Given the description of an element on the screen output the (x, y) to click on. 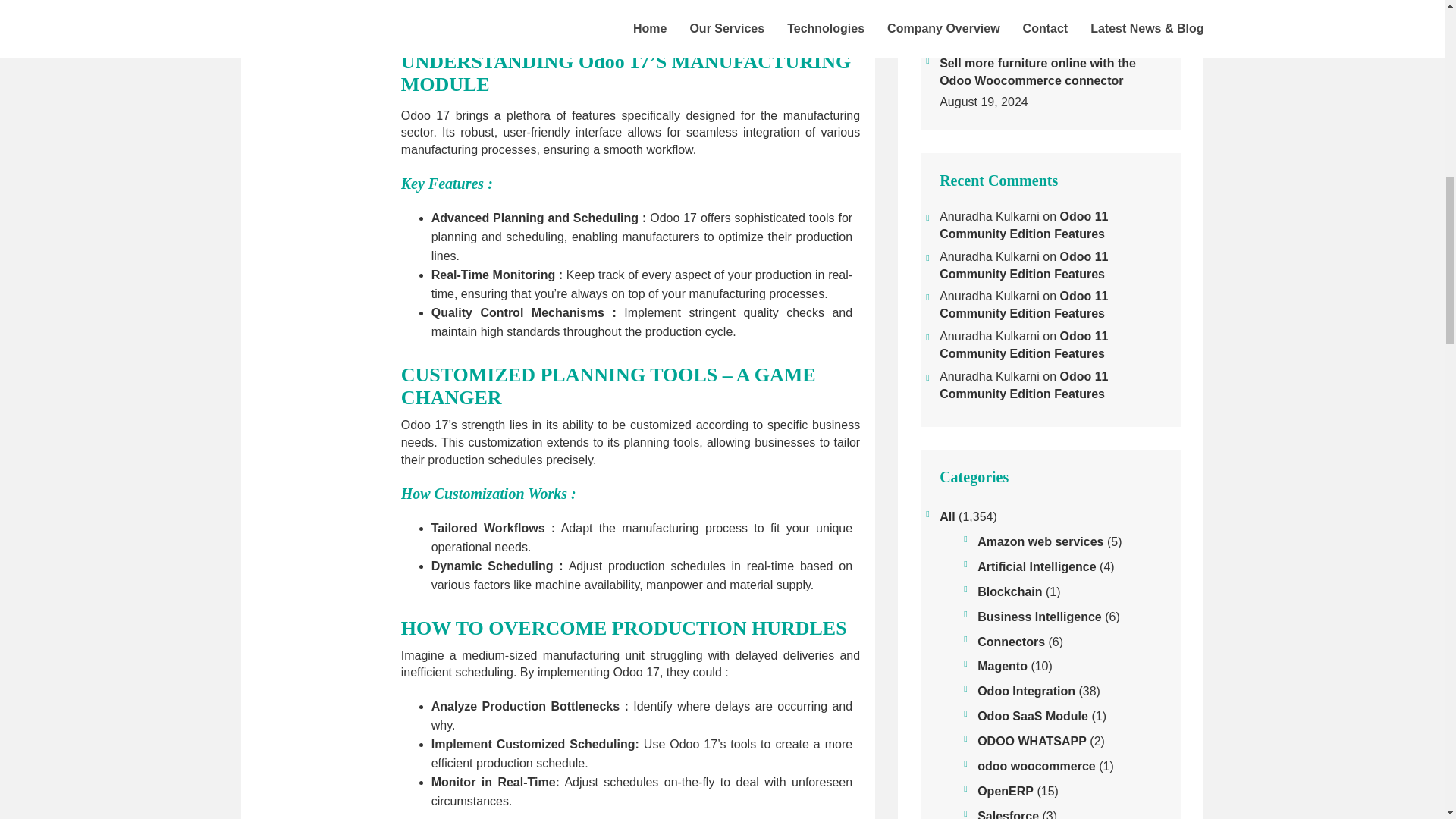
Odoo 11 Community Edition Features (1023, 304)
Odoo 11 Community Edition Features (1023, 265)
Odoo 11 Community Edition Features (1023, 224)
Odoo 11 Community Edition Features (1023, 345)
Odoo 11 Community Edition Features (1023, 385)
Amazon web services (1039, 542)
